Given the description of an element on the screen output the (x, y) to click on. 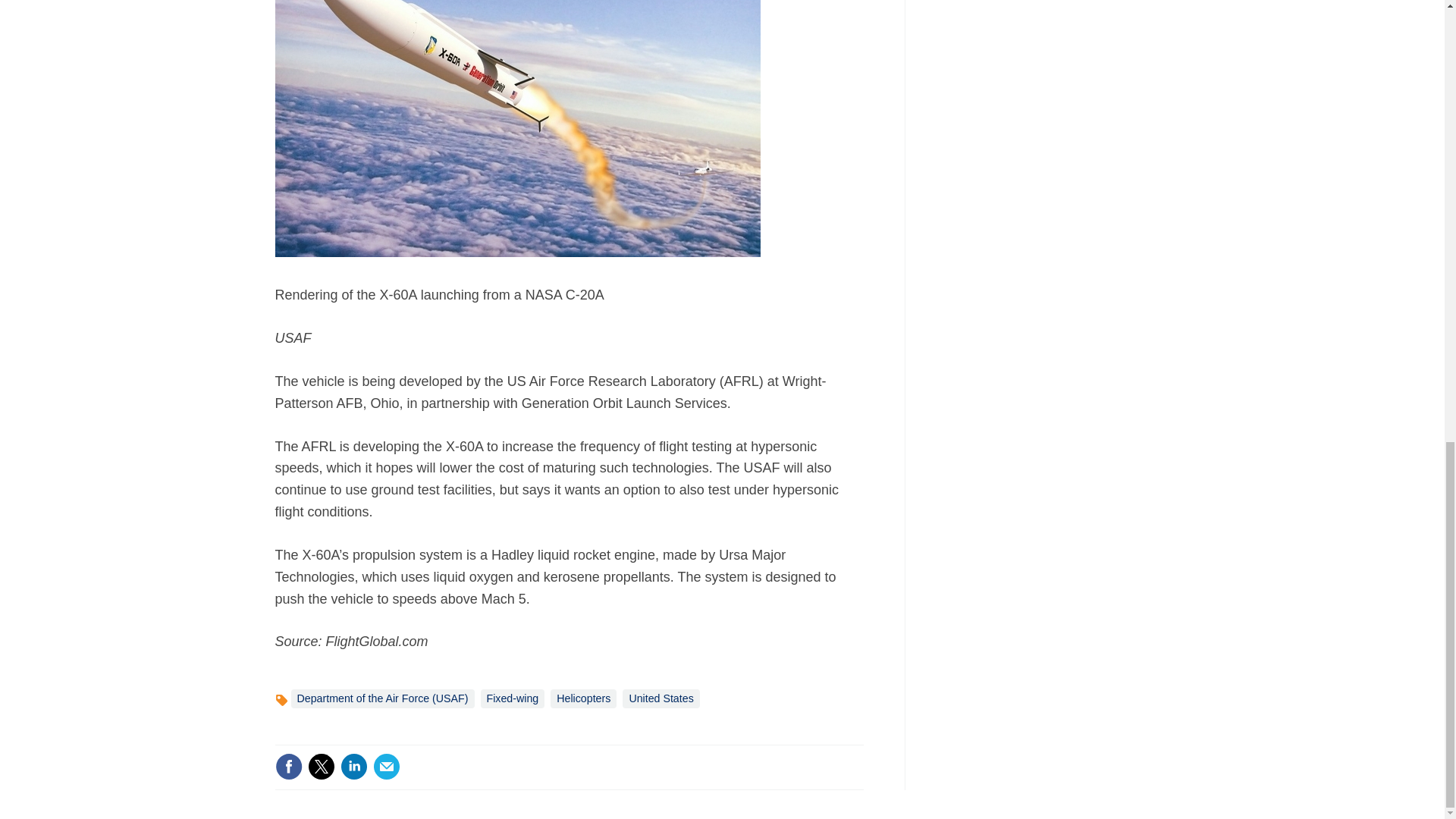
Share this on Twitter (320, 766)
Share this on Linked in (352, 766)
Share this on Facebook (288, 766)
Email this article (386, 766)
